Given the description of an element on the screen output the (x, y) to click on. 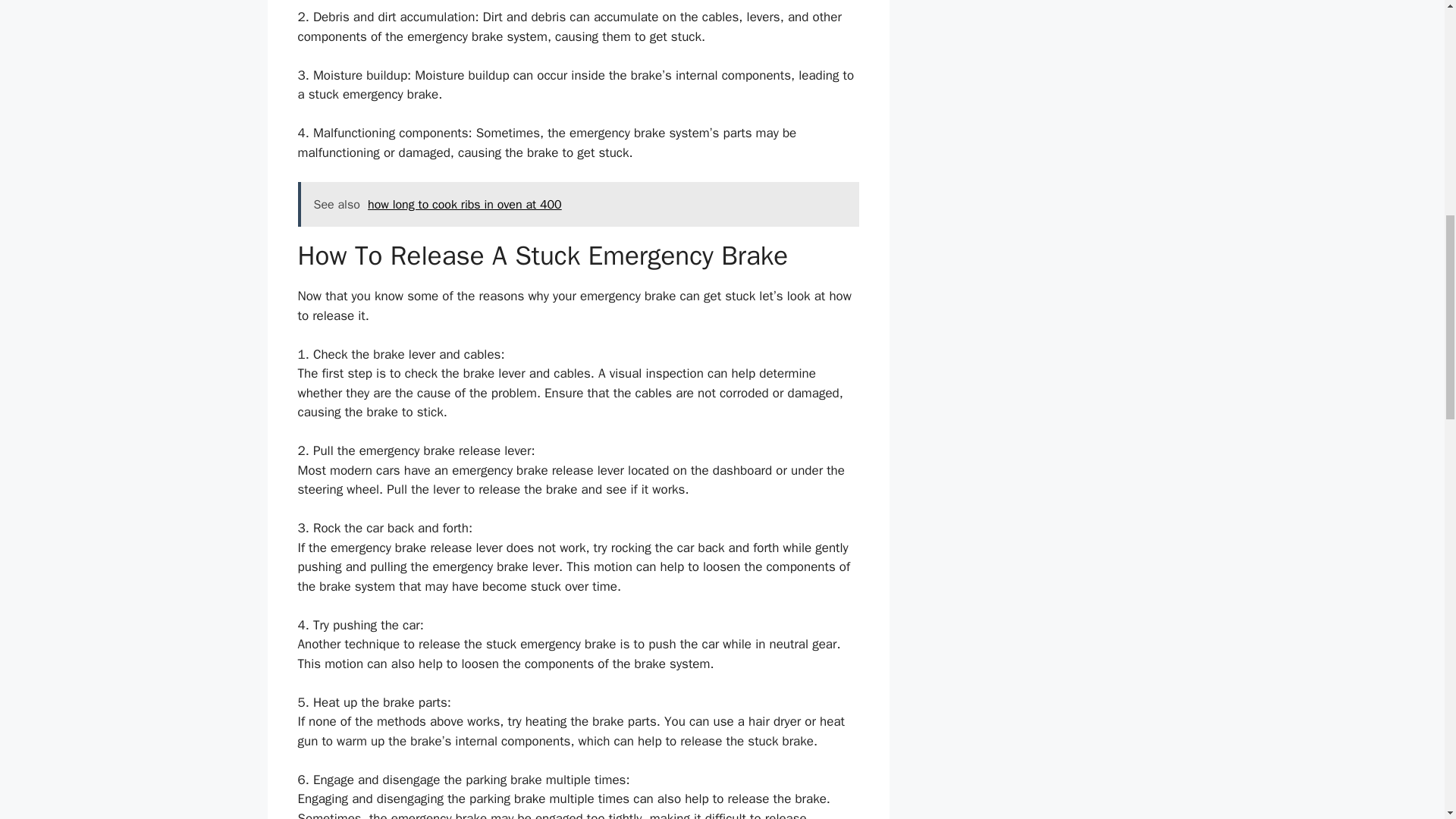
See also  how long to cook ribs in oven at 400 (578, 204)
